Given the description of an element on the screen output the (x, y) to click on. 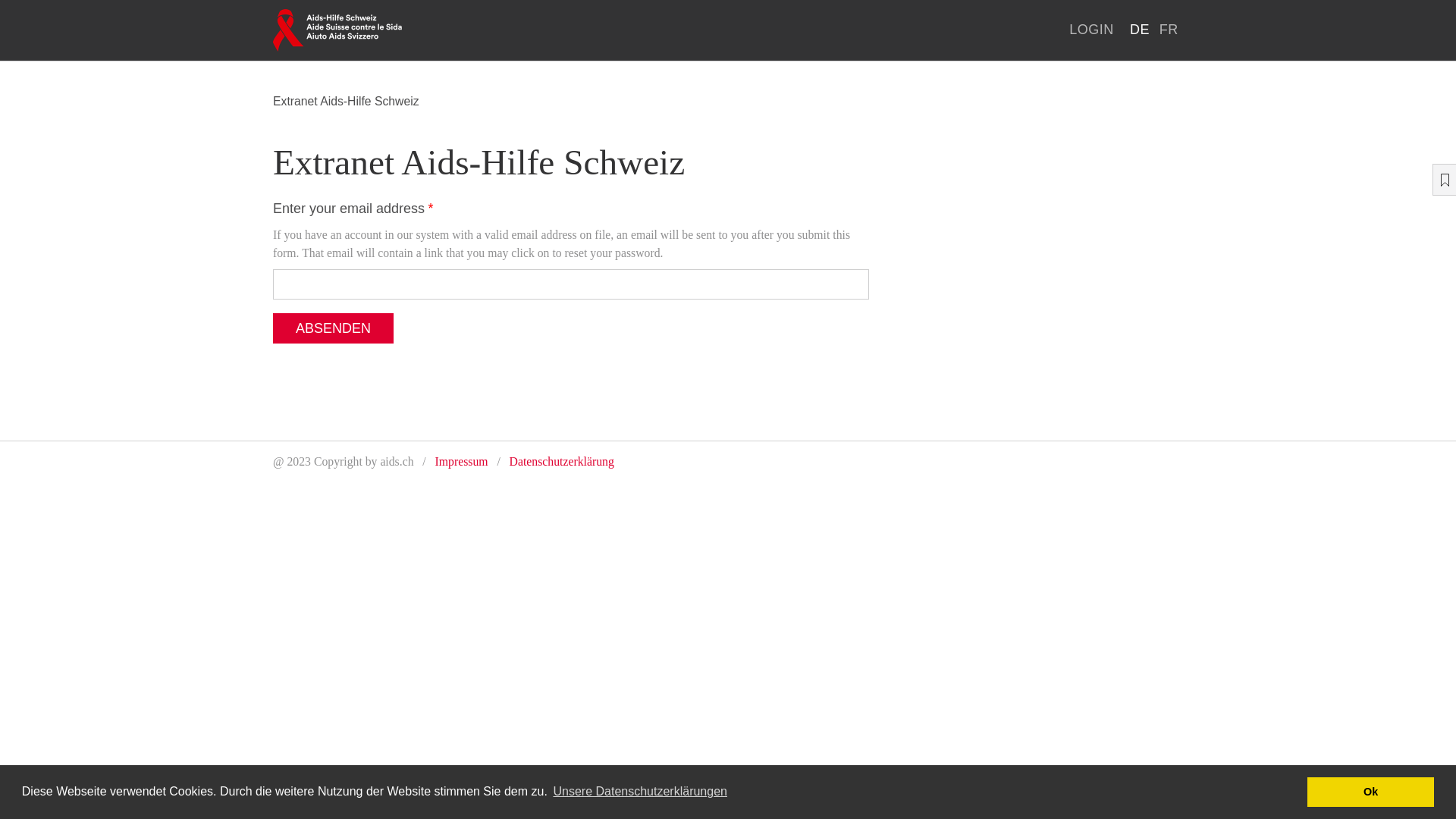
DE Element type: text (1139, 30)
Home Element type: hover (337, 30)
LOGIN Element type: text (1091, 30)
Ok Element type: text (1370, 791)
ABSENDEN Element type: text (333, 328)
Impressum Element type: text (461, 461)
FR Element type: text (1168, 30)
